Given the description of an element on the screen output the (x, y) to click on. 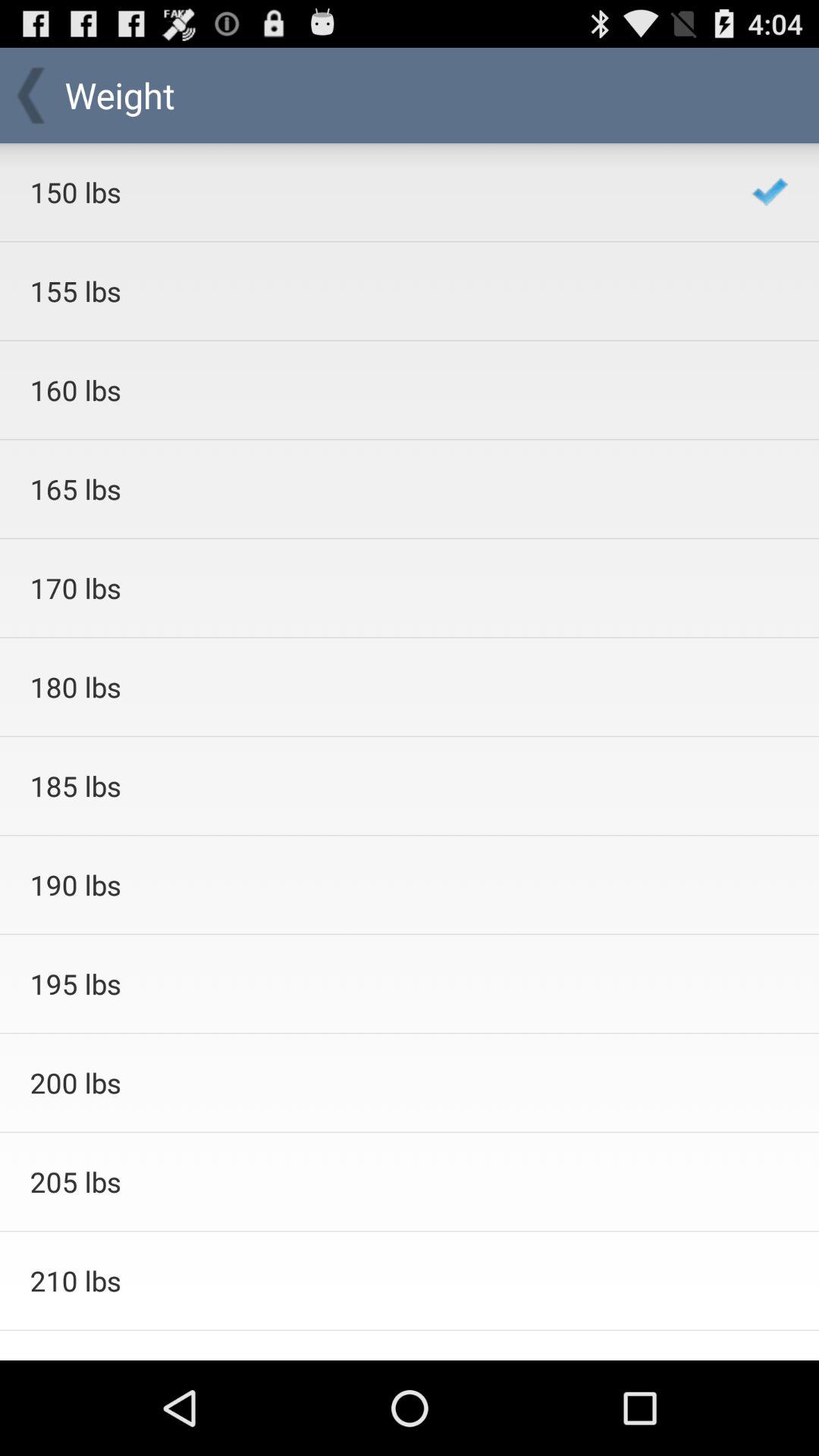
select item above the 180 lbs icon (371, 587)
